Given the description of an element on the screen output the (x, y) to click on. 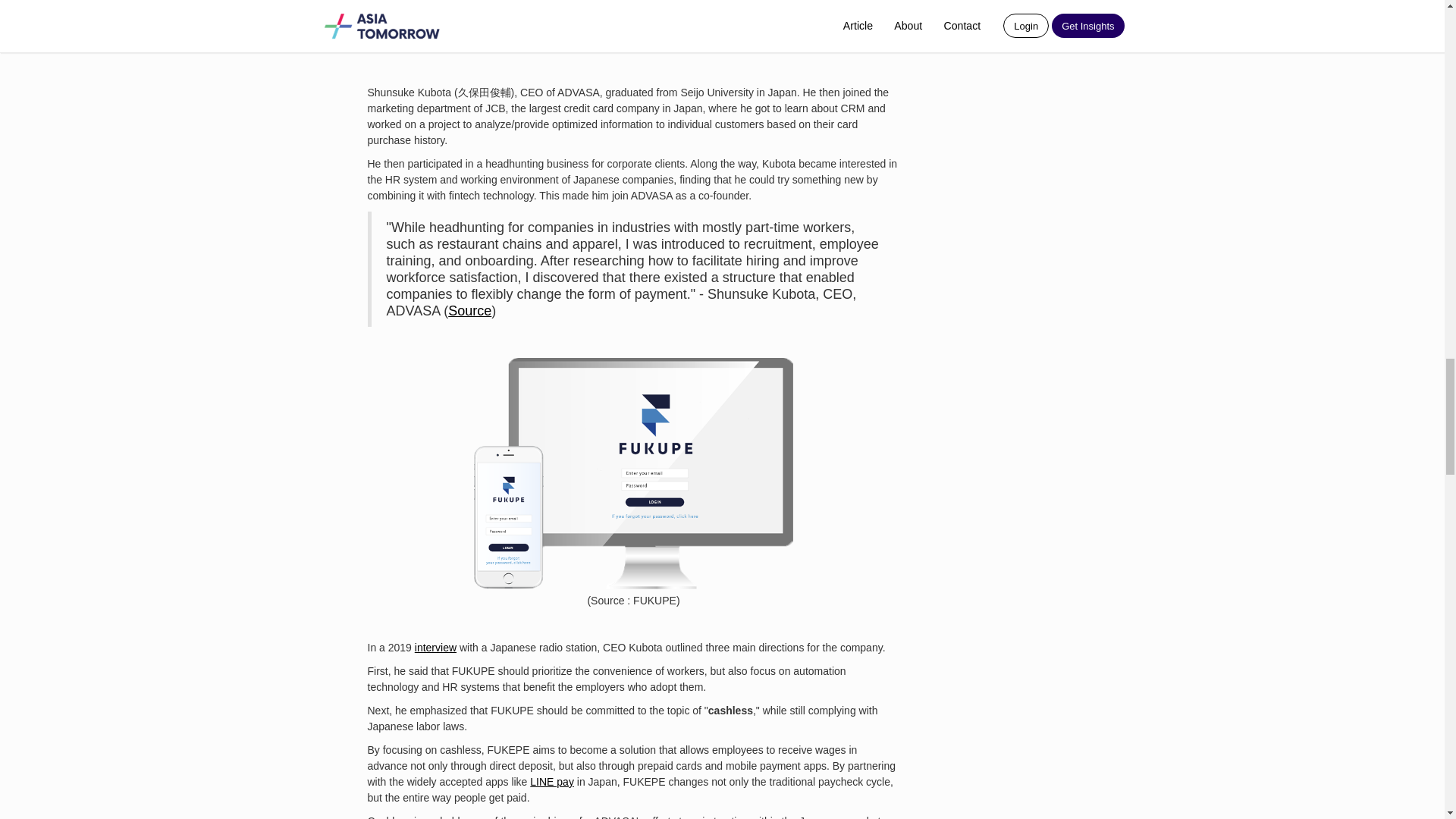
morning pitch (654, 45)
interview (435, 647)
Source (470, 310)
LINE pay (551, 781)
